Given the description of an element on the screen output the (x, y) to click on. 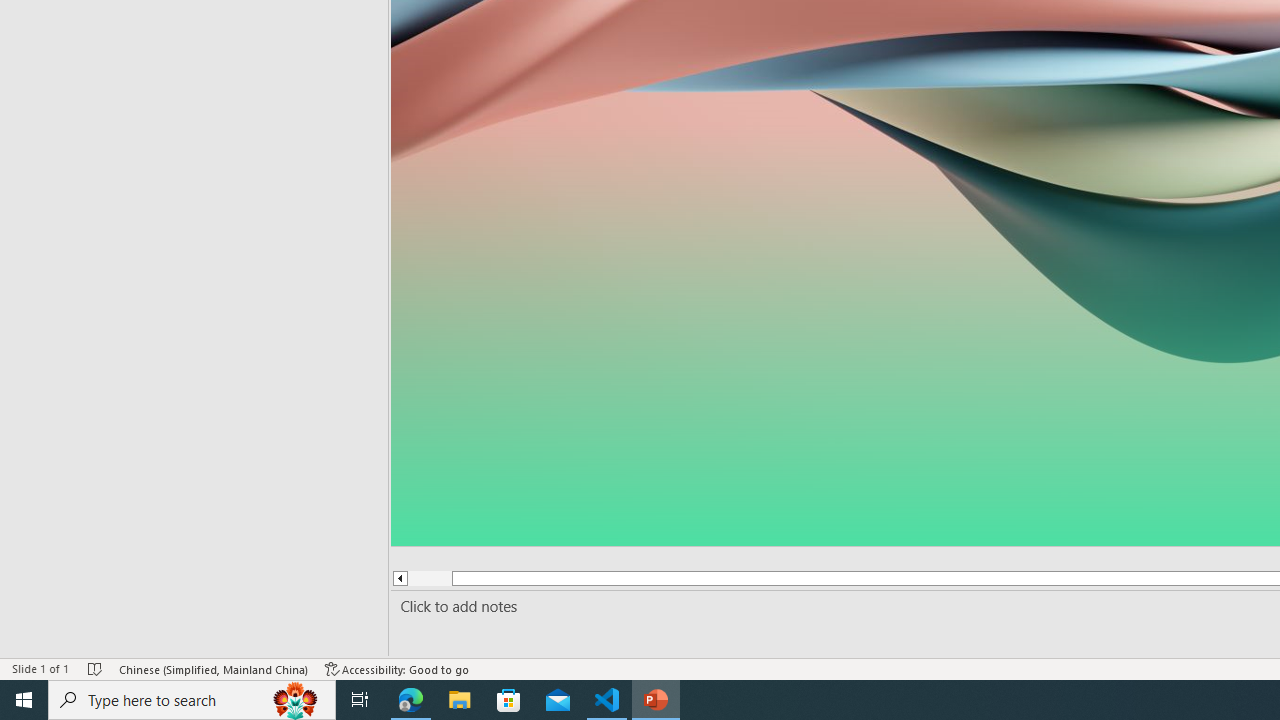
Accessibility Checker Accessibility: Good to go (397, 668)
